Given the description of an element on the screen output the (x, y) to click on. 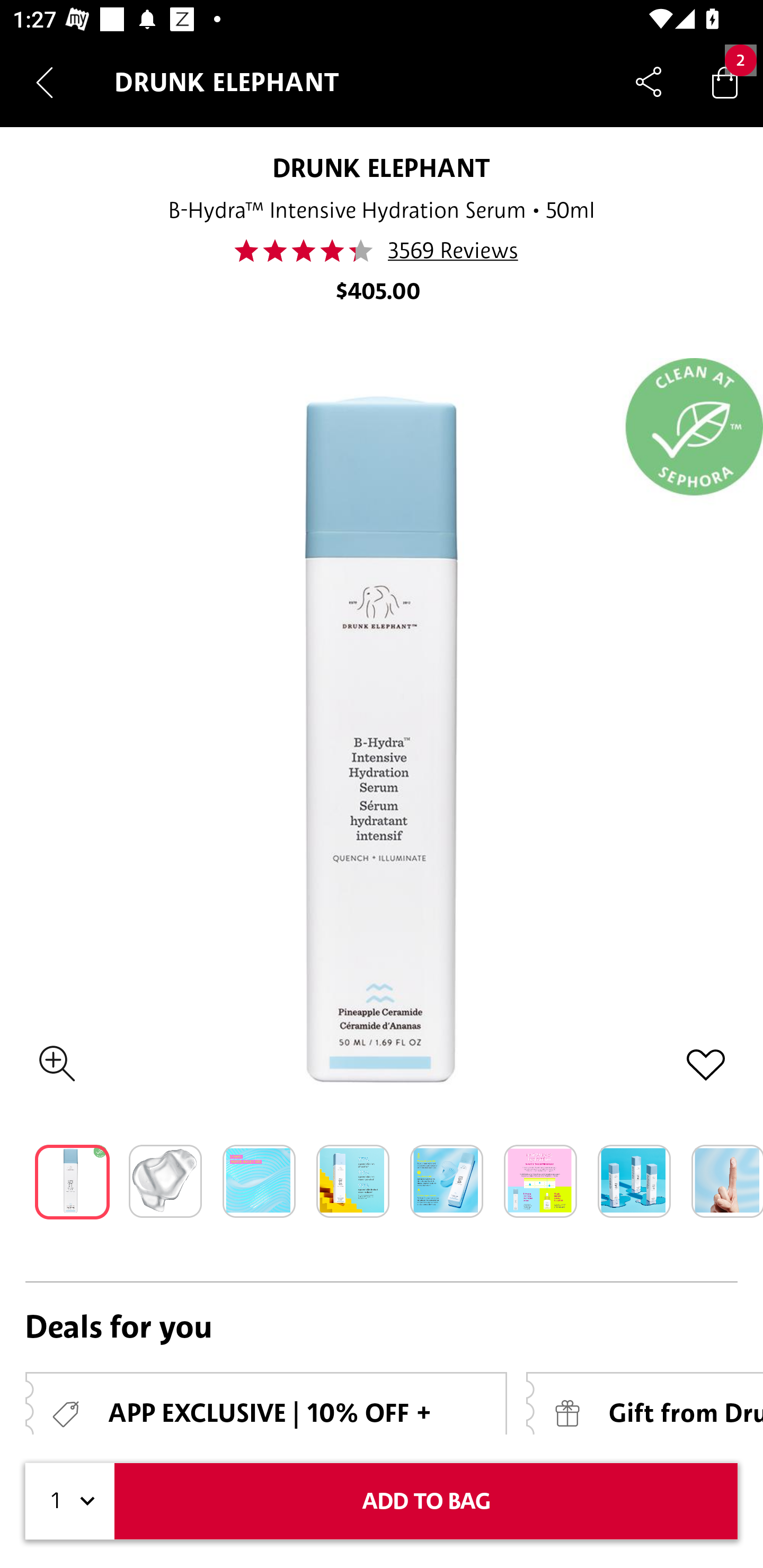
Navigate up (44, 82)
Share (648, 81)
Bag (724, 81)
DRUNK ELEPHANT (381, 167)
43.0 3569 Reviews (381, 250)
1 (69, 1500)
ADD TO BAG (425, 1500)
